Given the description of an element on the screen output the (x, y) to click on. 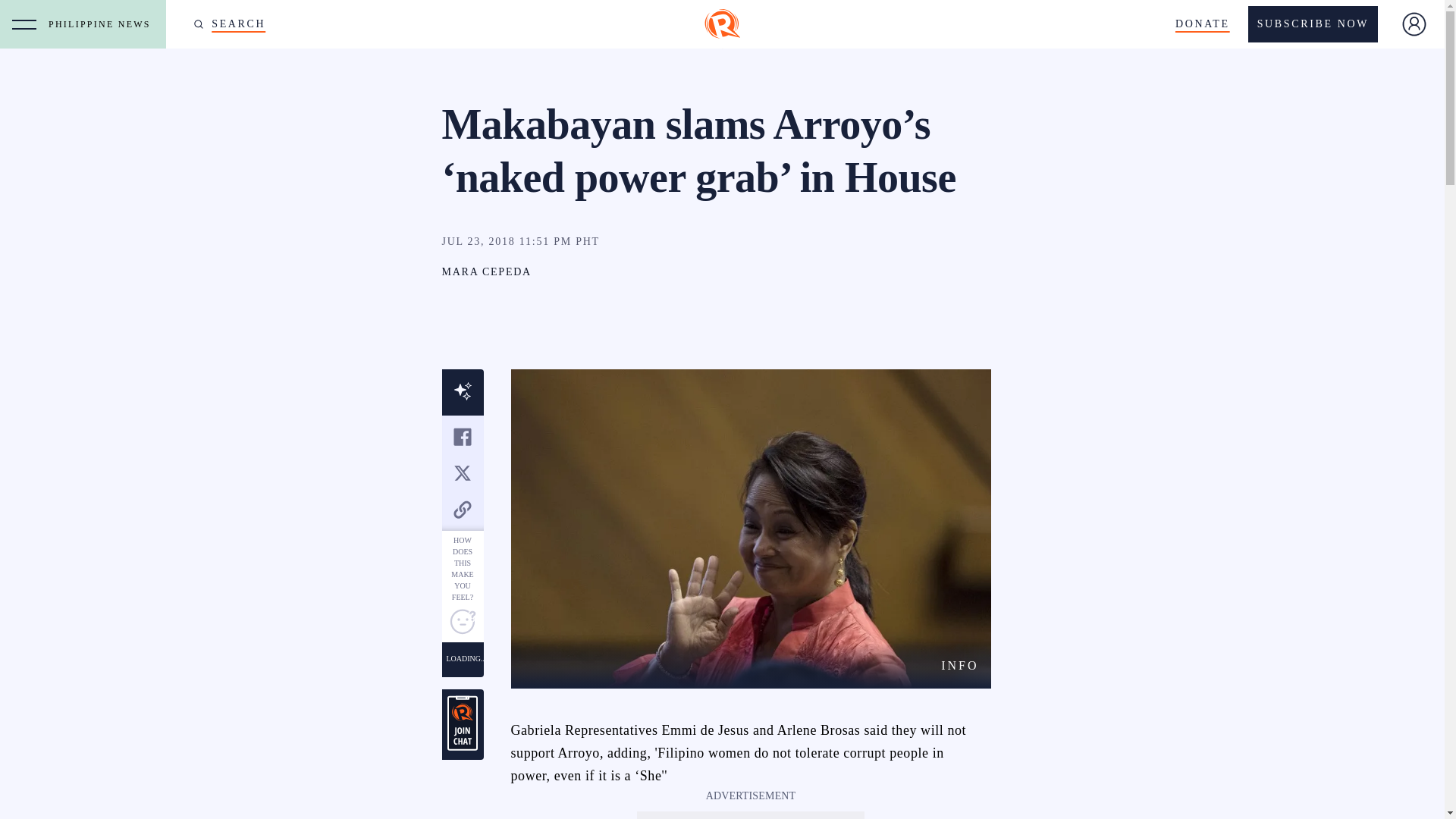
OPEN NAVIGATION (24, 24)
PHILIPPINE NEWS (103, 23)
